Given the description of an element on the screen output the (x, y) to click on. 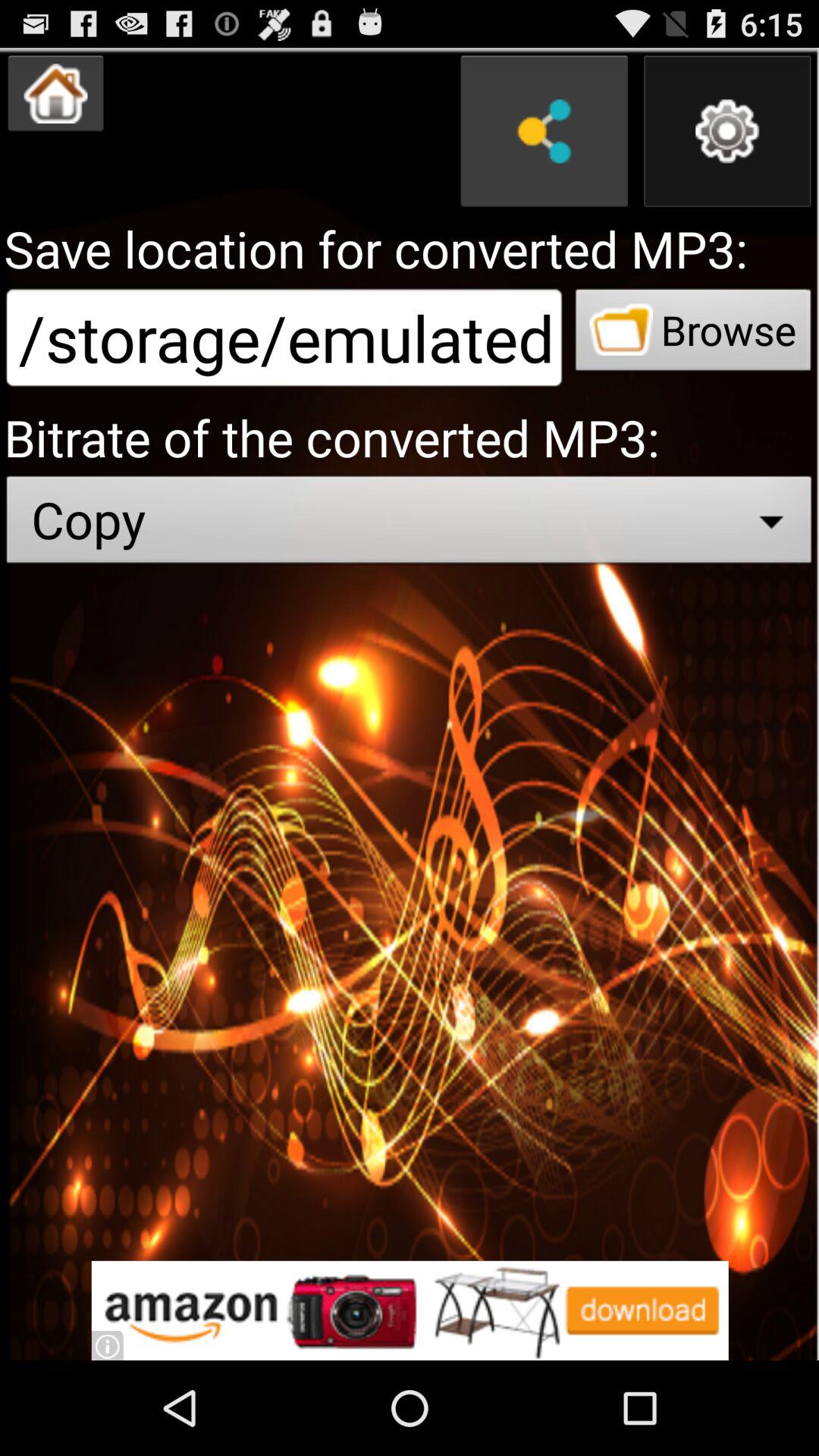
share the converted mp3 (543, 130)
